Given the description of an element on the screen output the (x, y) to click on. 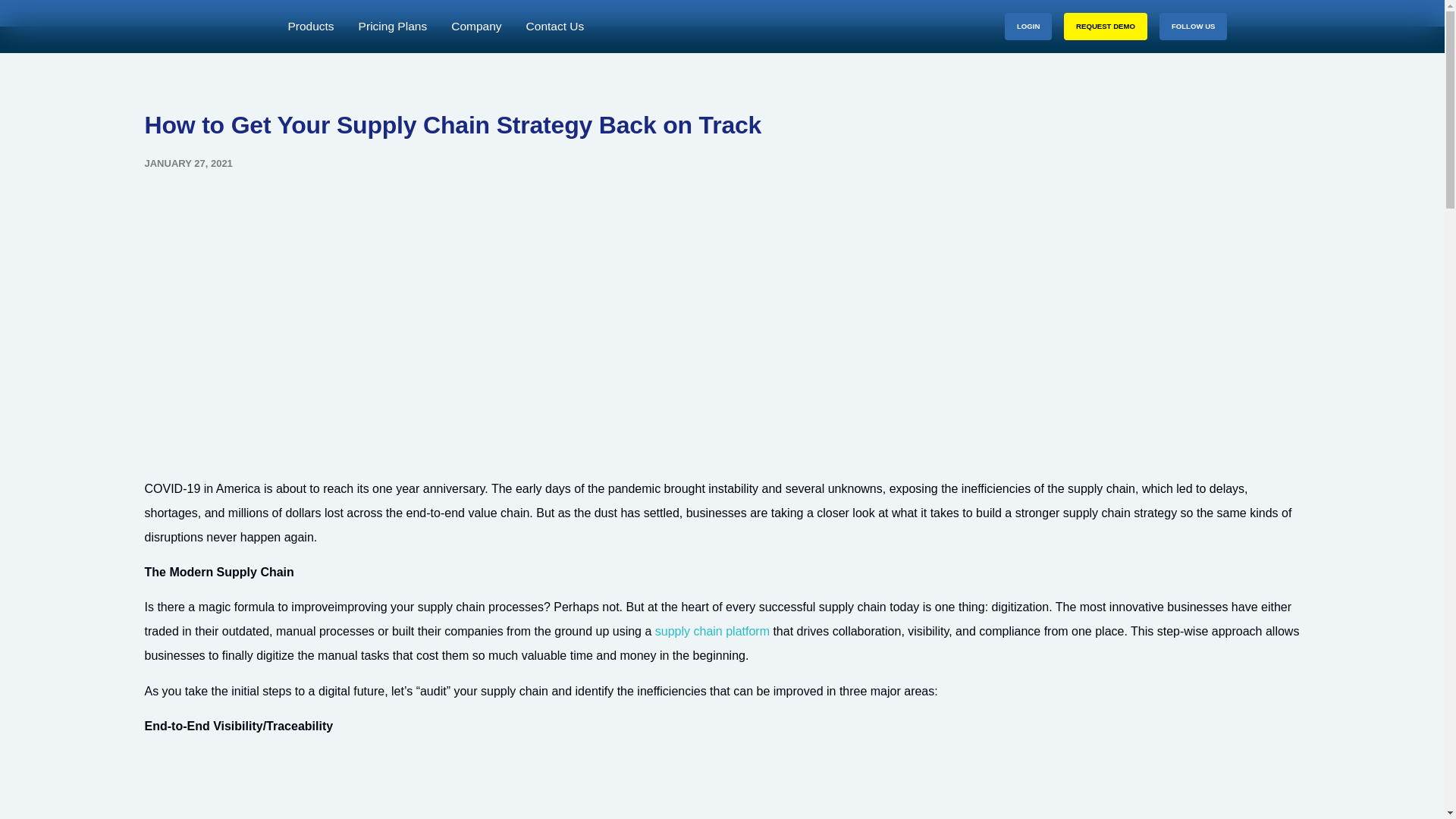
LOGIN (1027, 26)
Company (475, 26)
Contact Us (555, 26)
Pricing Plans (392, 26)
FOLLOW US (1192, 26)
suuchiLogo.png (226, 33)
Products (309, 26)
REQUEST DEMO (1105, 26)
